Given the description of an element on the screen output the (x, y) to click on. 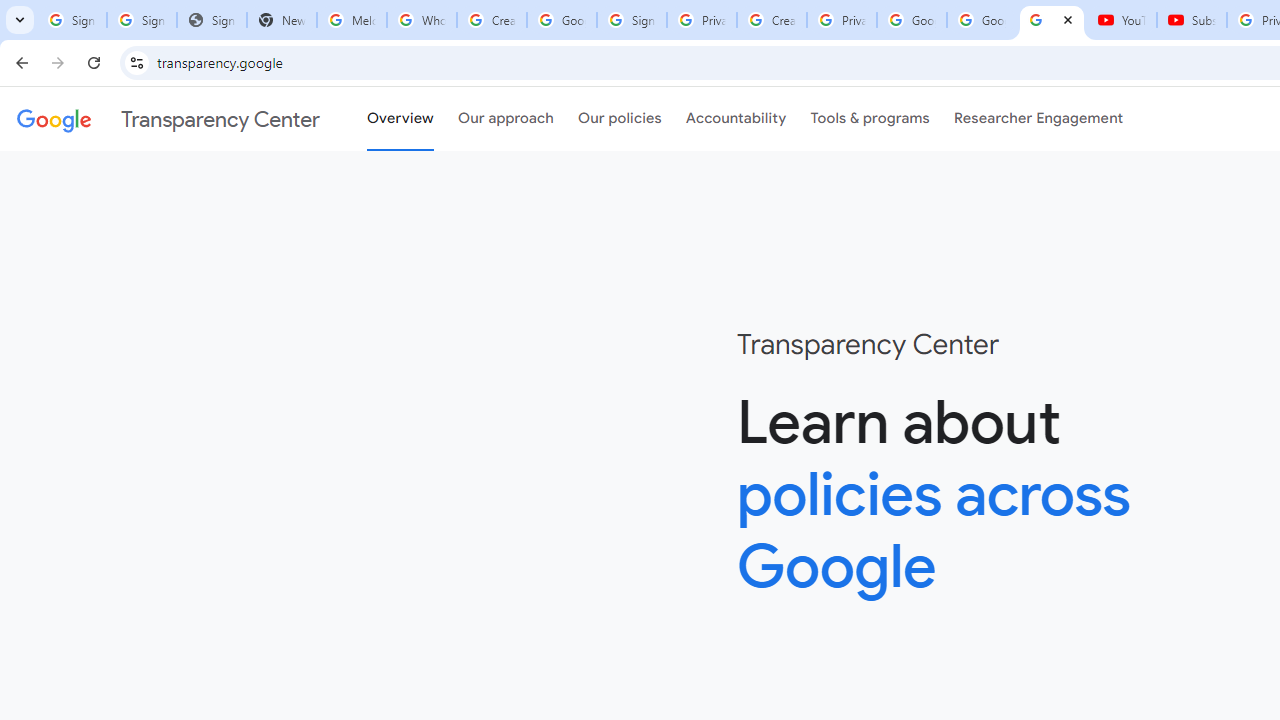
Sign in - Google Accounts (72, 20)
Sign in - Google Accounts (631, 20)
Transparency Center (167, 119)
Researcher Engagement (1038, 119)
YouTube (1121, 20)
Tools & programs (869, 119)
Accountability (735, 119)
